Given the description of an element on the screen output the (x, y) to click on. 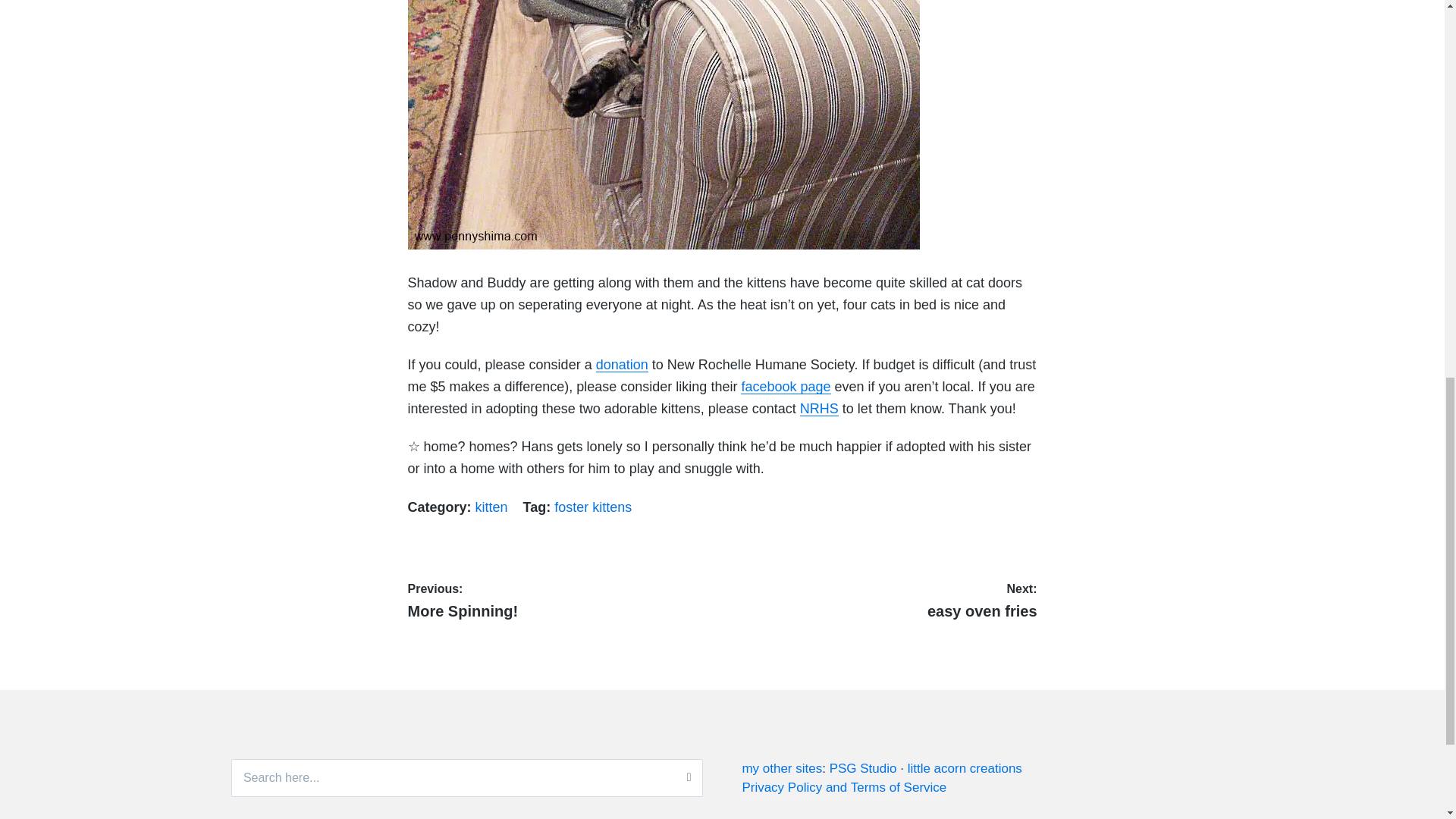
PSG Studio (862, 768)
donation (621, 364)
NRHS (818, 408)
my other sites (781, 768)
Privacy Policy and Terms of Service (561, 599)
little acorn creations (843, 787)
foster kittens (964, 768)
facebook page (592, 507)
kitten (785, 386)
